Given the description of an element on the screen output the (x, y) to click on. 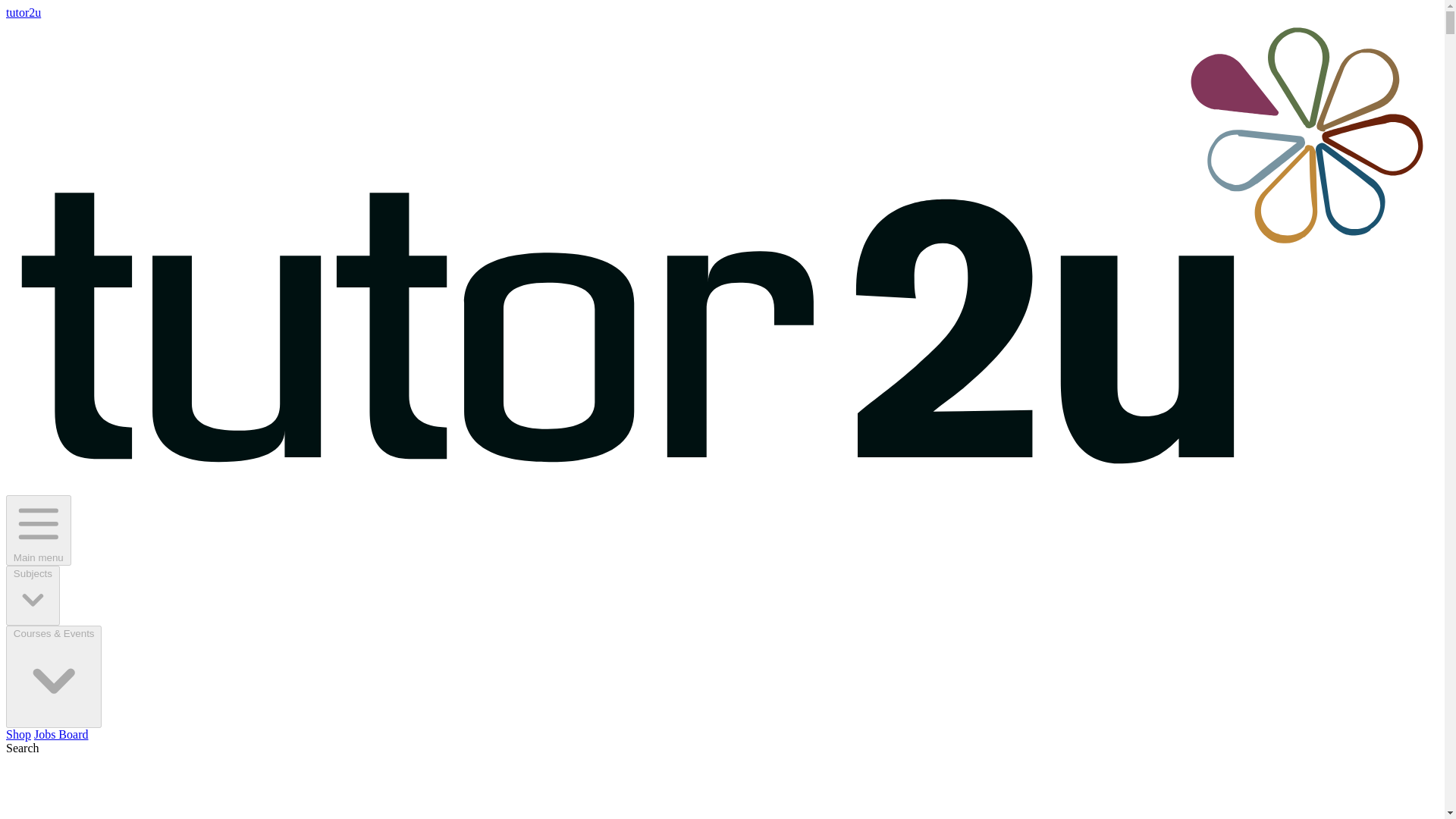
Jobs Board (60, 734)
Shop (17, 734)
Subjects (32, 595)
Main menu (38, 530)
